Given the description of an element on the screen output the (x, y) to click on. 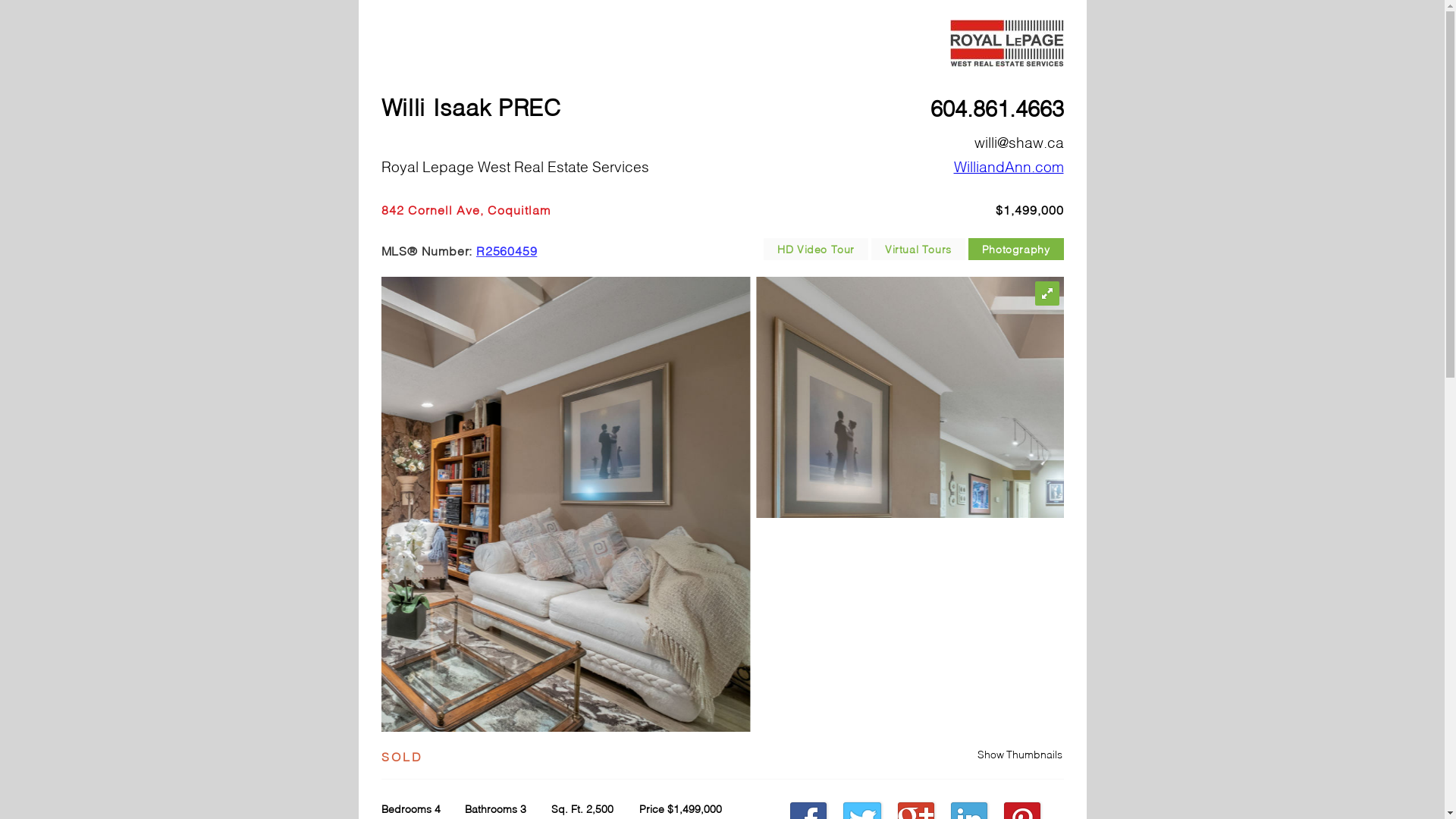
WilliandAnn.com Element type: text (1008, 166)
R2560459 Element type: text (506, 250)
